Given the description of an element on the screen output the (x, y) to click on. 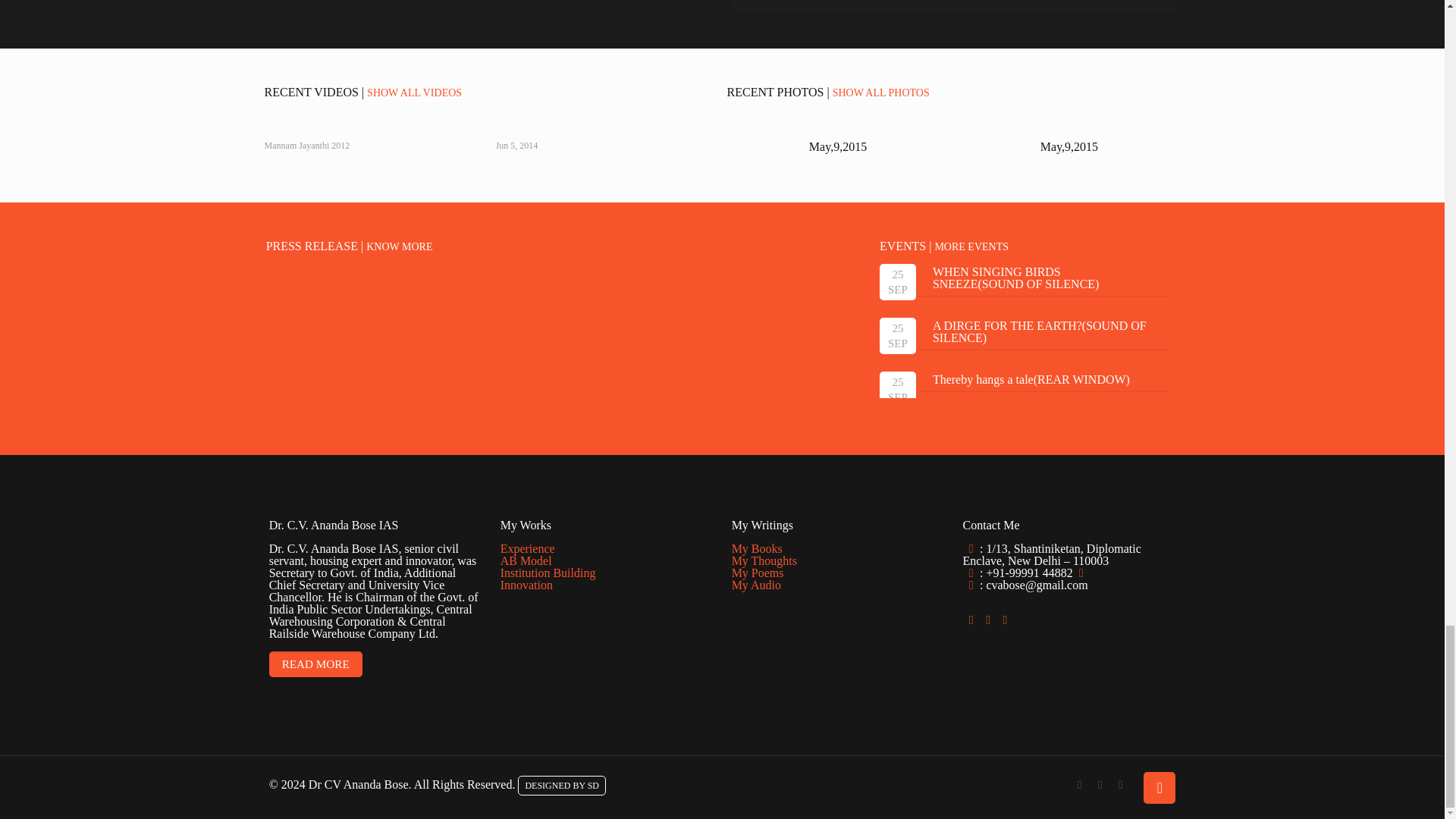
Facebook (1079, 784)
Twitter (1100, 784)
LinkedIn (1120, 784)
